Given the description of an element on the screen output the (x, y) to click on. 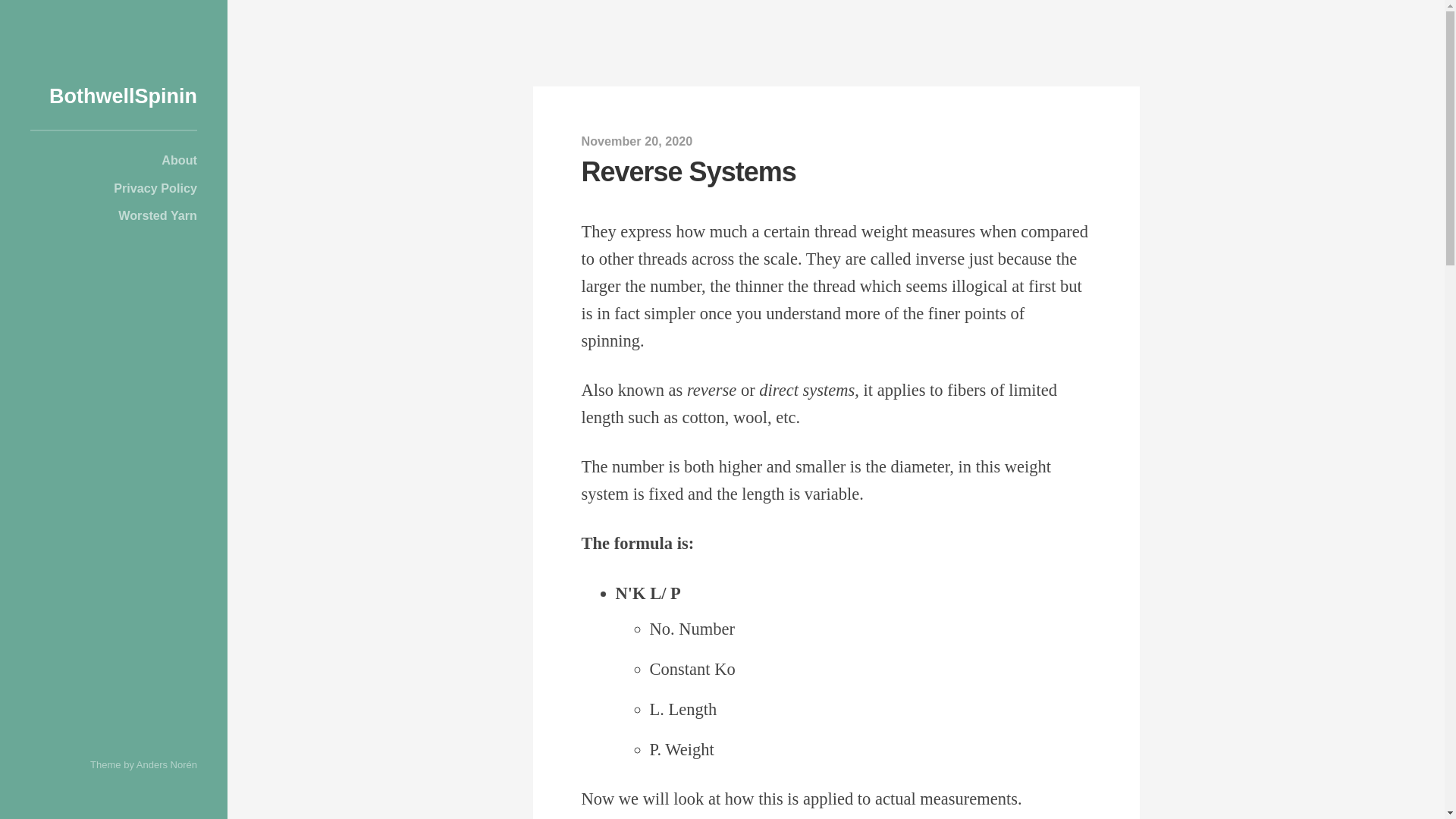
Privacy Policy (113, 187)
November 20, 2020 (636, 141)
BothwellSpinin (122, 96)
Worsted Yarn (113, 215)
10:16 (636, 141)
About (113, 159)
